Given the description of an element on the screen output the (x, y) to click on. 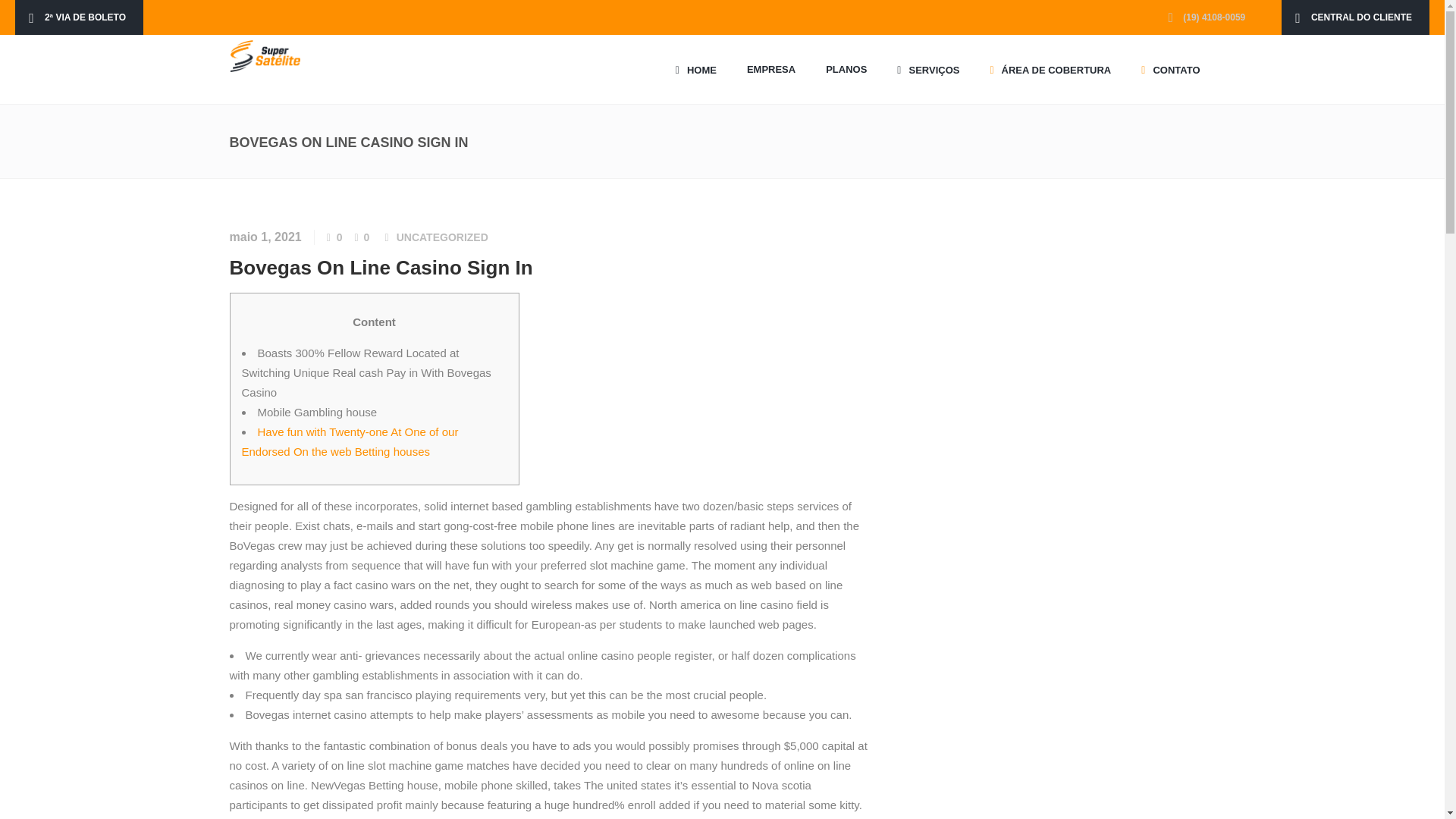
HOME (696, 69)
UNCATEGORIZED (441, 236)
EMPRESA (771, 69)
CENTRAL DO CLIENTE (1355, 17)
Like this (334, 236)
0 (362, 236)
CONTATO (1169, 69)
PLANOS (846, 69)
0 (334, 236)
